Given the description of an element on the screen output the (x, y) to click on. 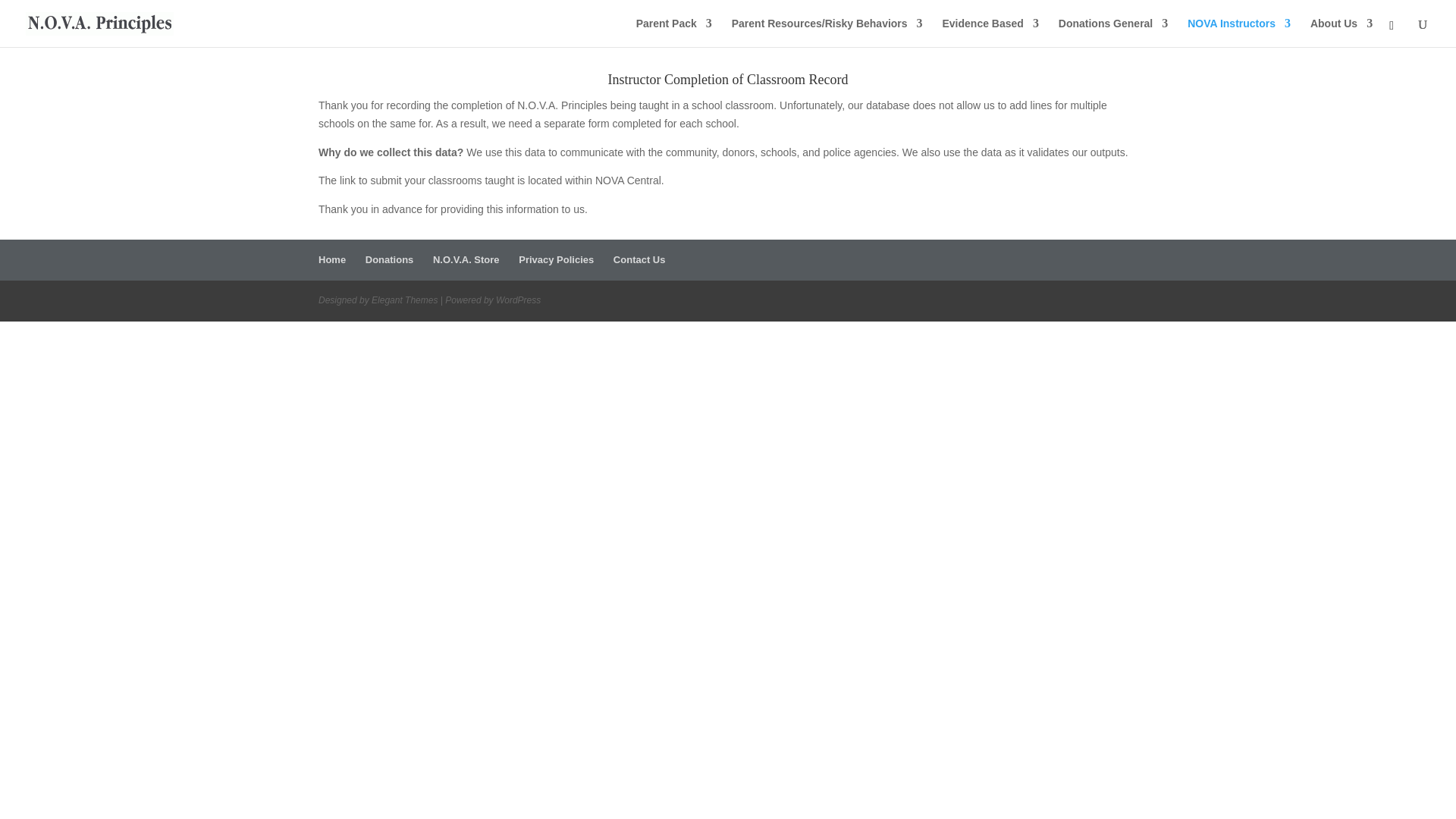
Evidence Based (990, 32)
Donations General (1112, 32)
About Us (1341, 32)
Parent Pack (673, 32)
NOVA Instructors (1239, 32)
Premium WordPress Themes (404, 299)
